Given the description of an element on the screen output the (x, y) to click on. 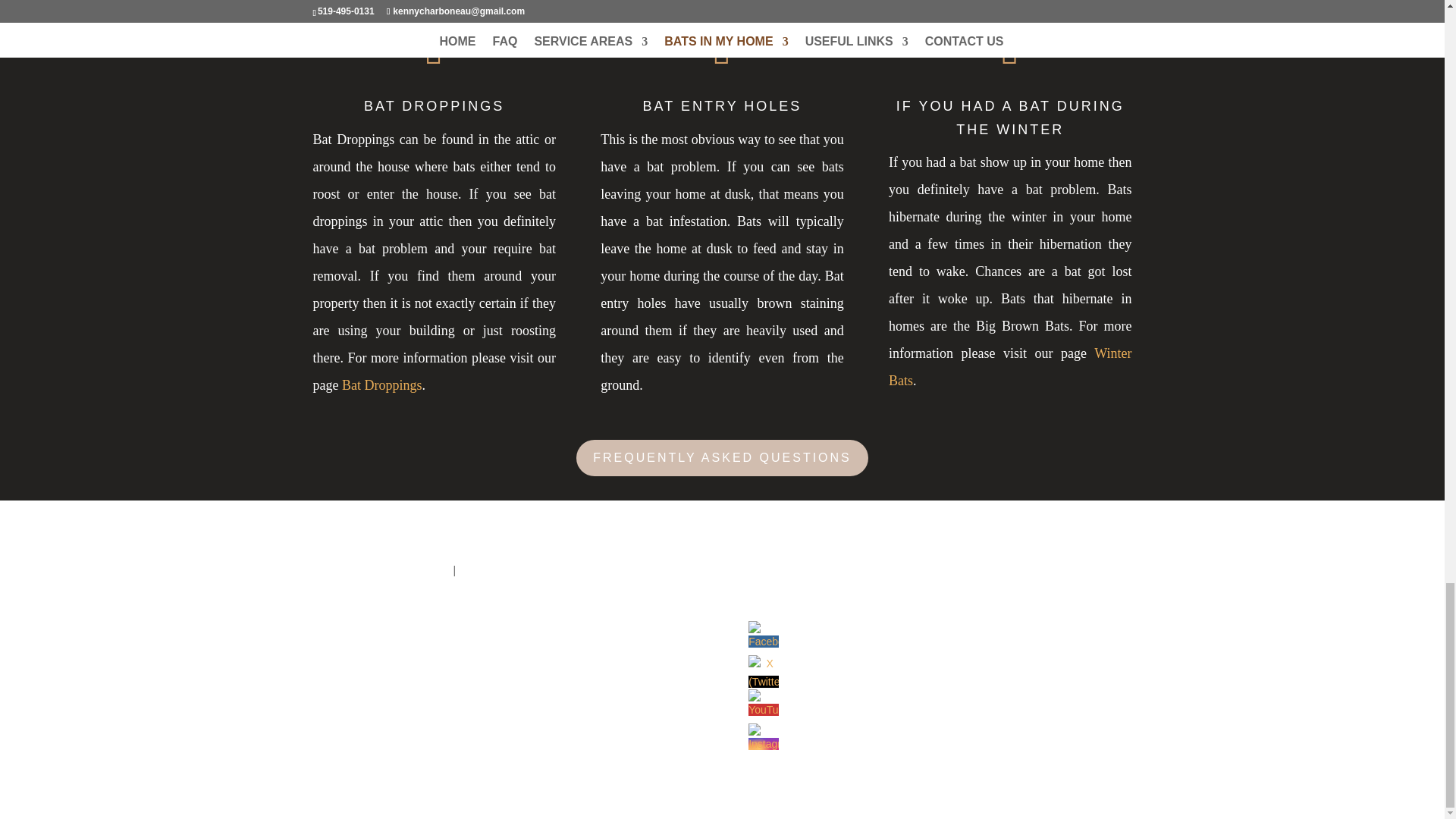
HOW TO REMOVE A BAT (645, 570)
Facebook (763, 635)
FREQUENTLY ASKED QUESTIONS (721, 457)
YouTube (763, 704)
HOME (434, 570)
Winter Bats (1009, 366)
Instagram (763, 738)
FAQ (724, 570)
BATS DURING WINTER (516, 570)
Bat Droppings (382, 385)
